Given the description of an element on the screen output the (x, y) to click on. 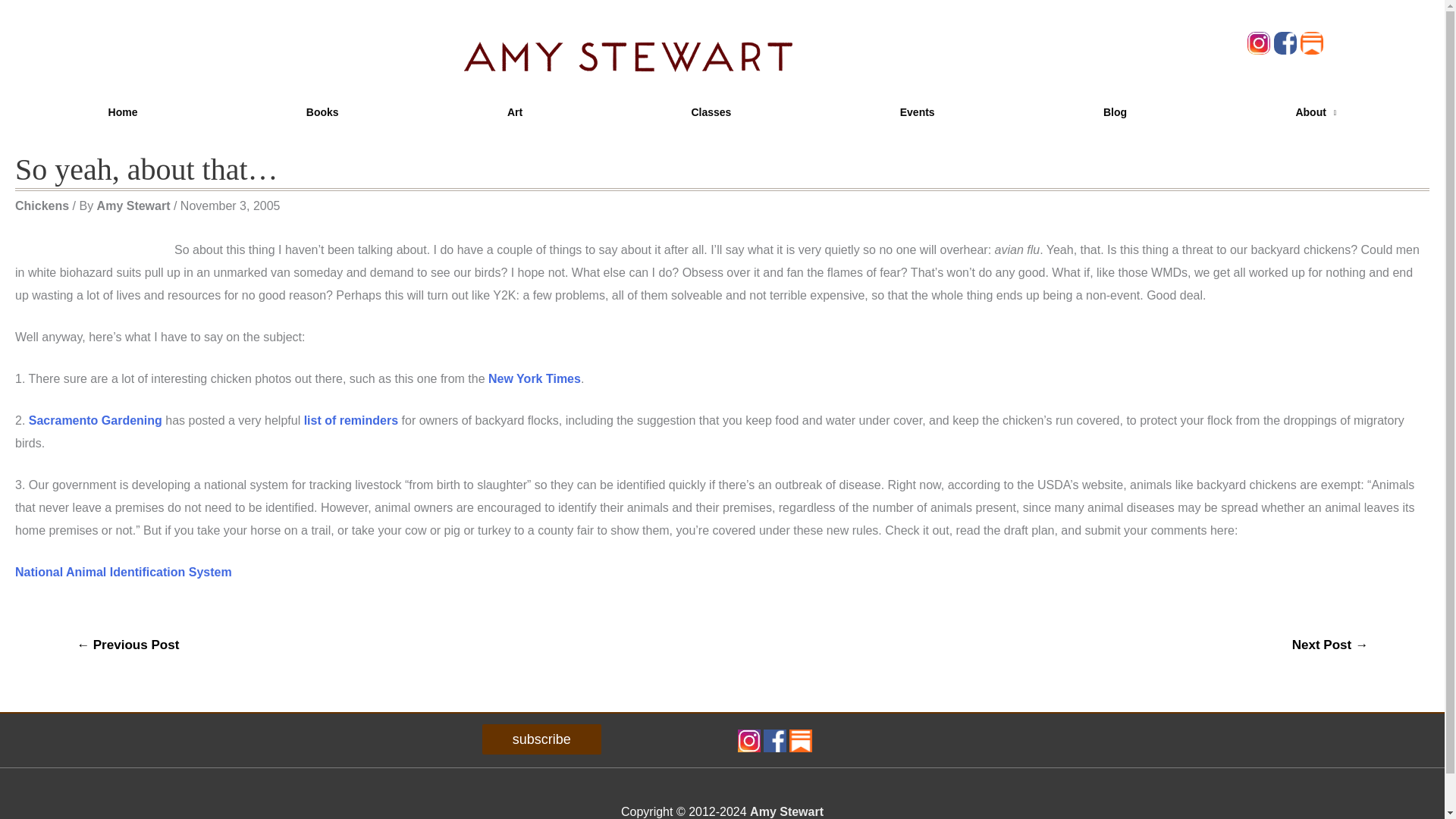
Home (122, 111)
subscribe (541, 738)
Amy Stewart (786, 811)
Sacramento Gardening (95, 420)
Chickens (41, 205)
Books (322, 111)
Amy Stewart on Instagram (748, 739)
Events (916, 111)
Bestselling Author Amy Stewart (786, 811)
Blog (1115, 111)
